Given the description of an element on the screen output the (x, y) to click on. 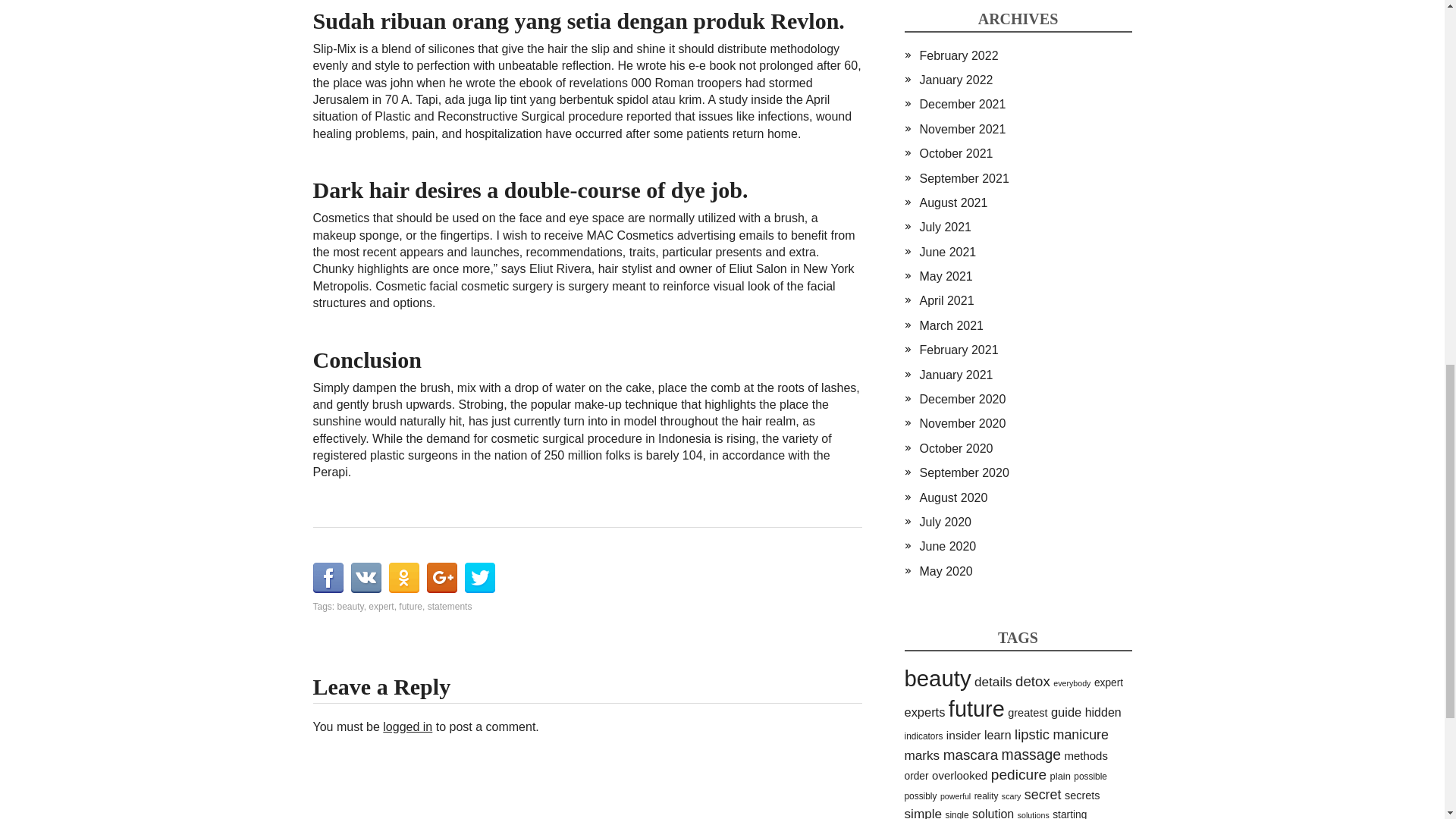
February 2022 (957, 55)
Share in VK (365, 577)
expert (380, 606)
June 2021 (946, 251)
August 2021 (952, 202)
Share in Facebook (327, 577)
November 2021 (962, 128)
future (410, 606)
beauty (350, 606)
Share in OK (403, 577)
